Given the description of an element on the screen output the (x, y) to click on. 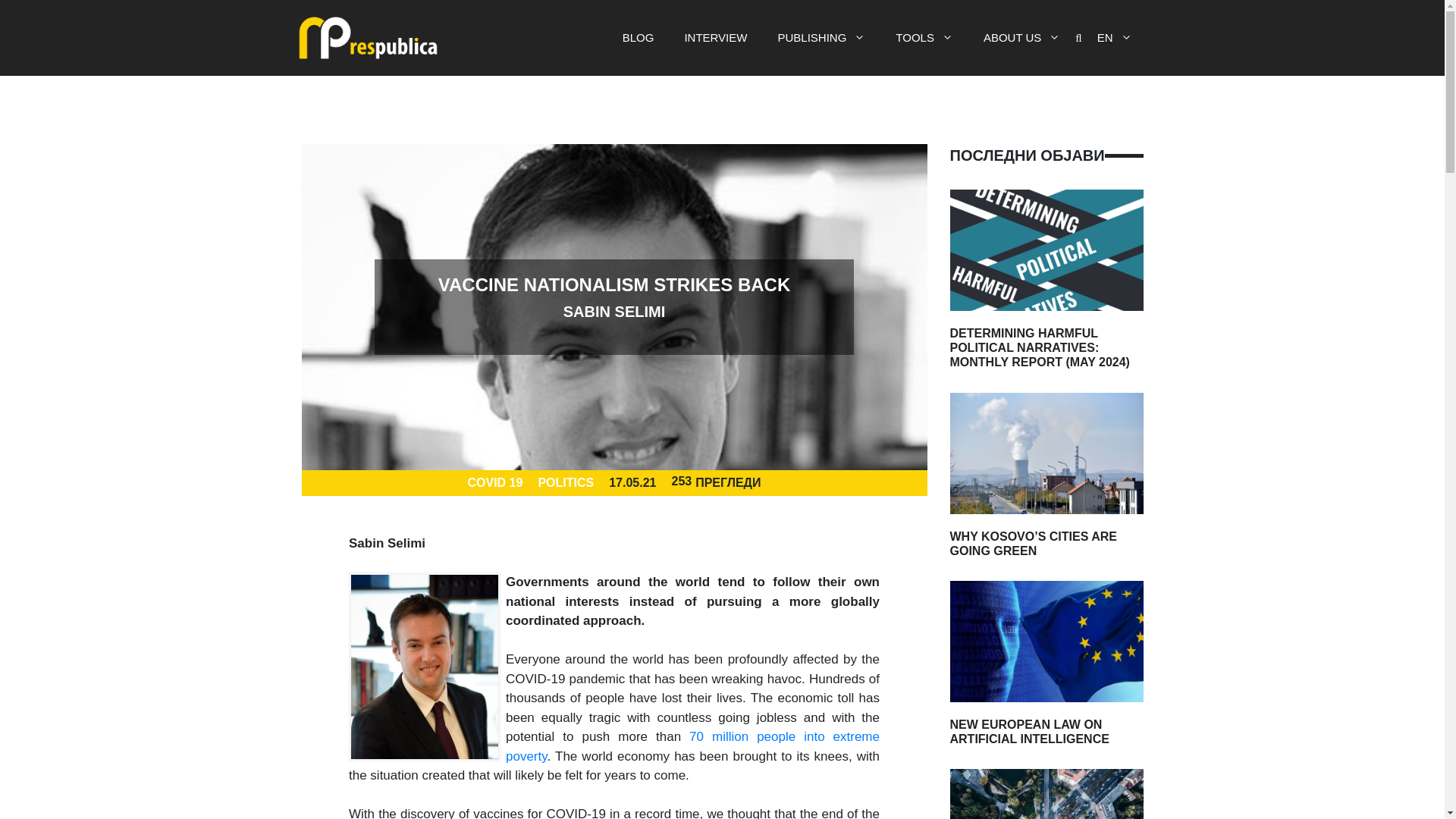
SABIN SELIMI (614, 311)
ABOUT US (1021, 37)
TOOLS (924, 37)
POLITICS (565, 481)
EN (1114, 37)
EN (1114, 37)
BLOG (638, 37)
PUBLISHING (820, 37)
INTERVIEW (714, 37)
70 million people into extreme poverty (692, 746)
COVID 19 (494, 481)
